Given the description of an element on the screen output the (x, y) to click on. 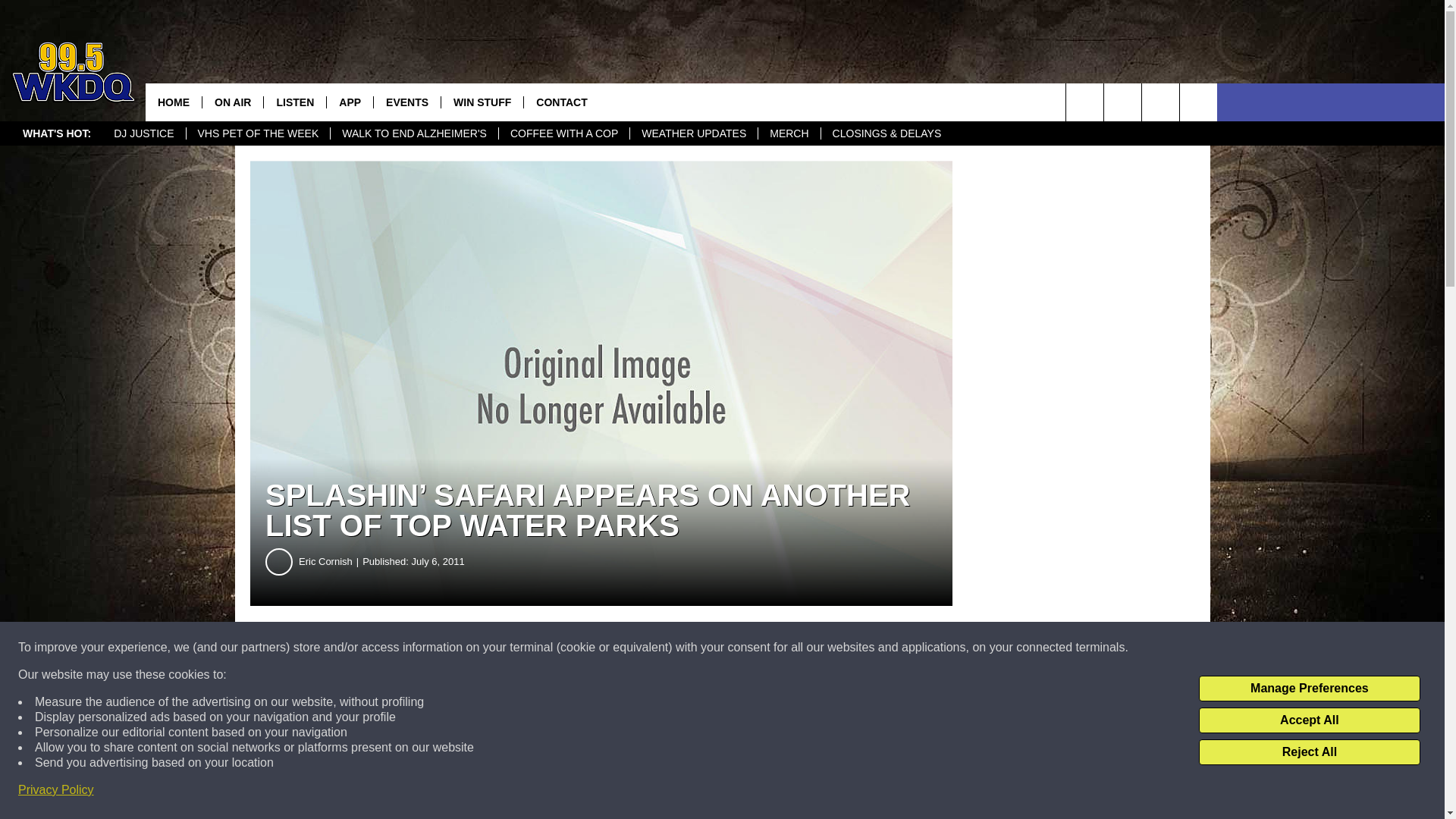
EVENTS (406, 102)
LISTEN (294, 102)
Privacy Policy (55, 789)
Share on Facebook (460, 647)
ON AIR (232, 102)
Reject All (1309, 751)
WEATHER UPDATES (692, 133)
WHAT'S HOT: (56, 133)
WALK TO END ALZHEIMER'S (413, 133)
Manage Preferences (1309, 688)
COFFEE WITH A COP (562, 133)
DJ JUSTICE (142, 133)
Share on Twitter (741, 647)
MERCH (788, 133)
VHS PET OF THE WEEK (258, 133)
